Given the description of an element on the screen output the (x, y) to click on. 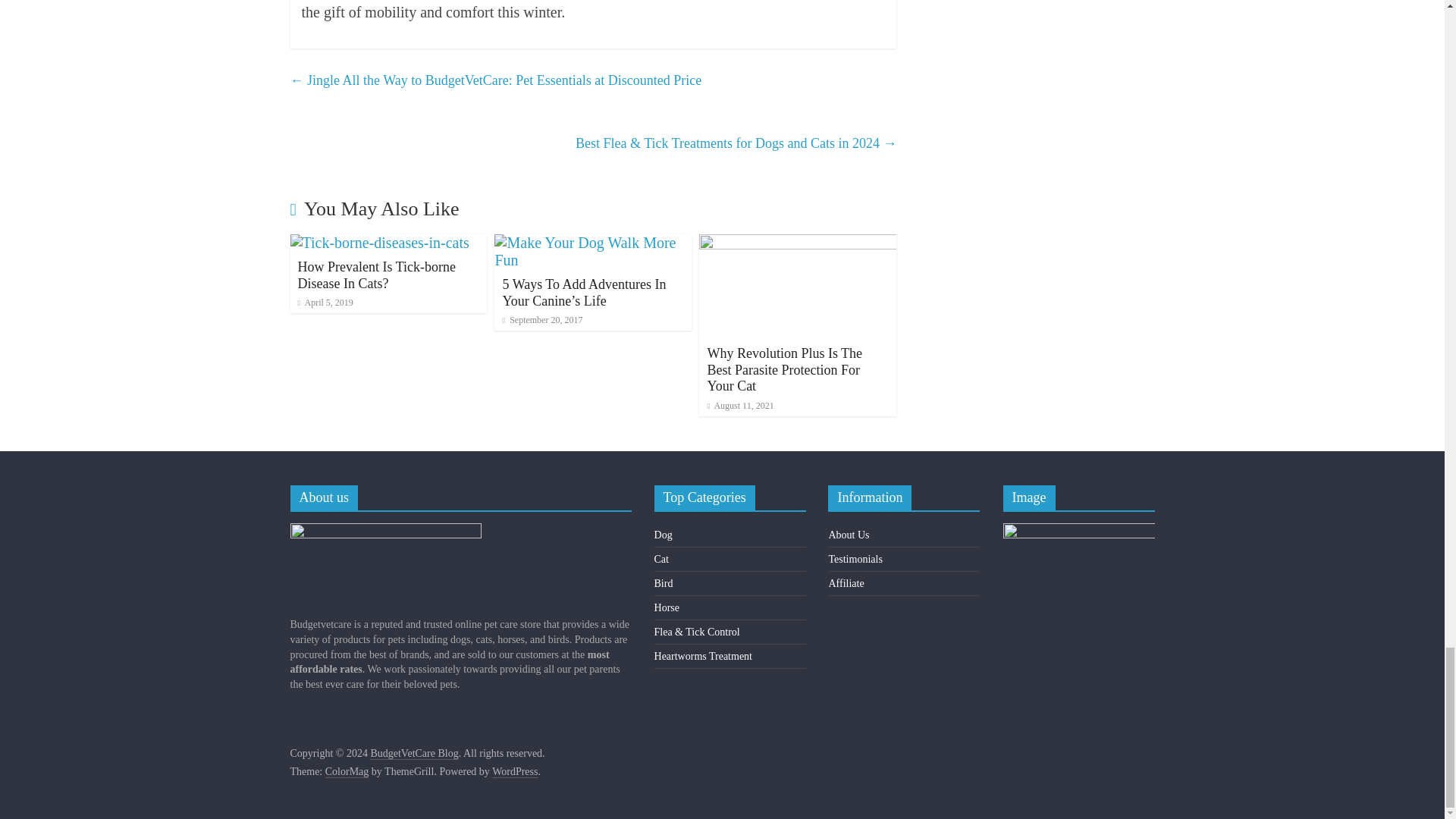
How Prevalent Is Tick-borne Disease In Cats? (375, 275)
How Prevalent Is Tick-borne Disease In Cats? (378, 242)
5:54 am (542, 319)
10:40 am (324, 302)
